Given the description of an element on the screen output the (x, y) to click on. 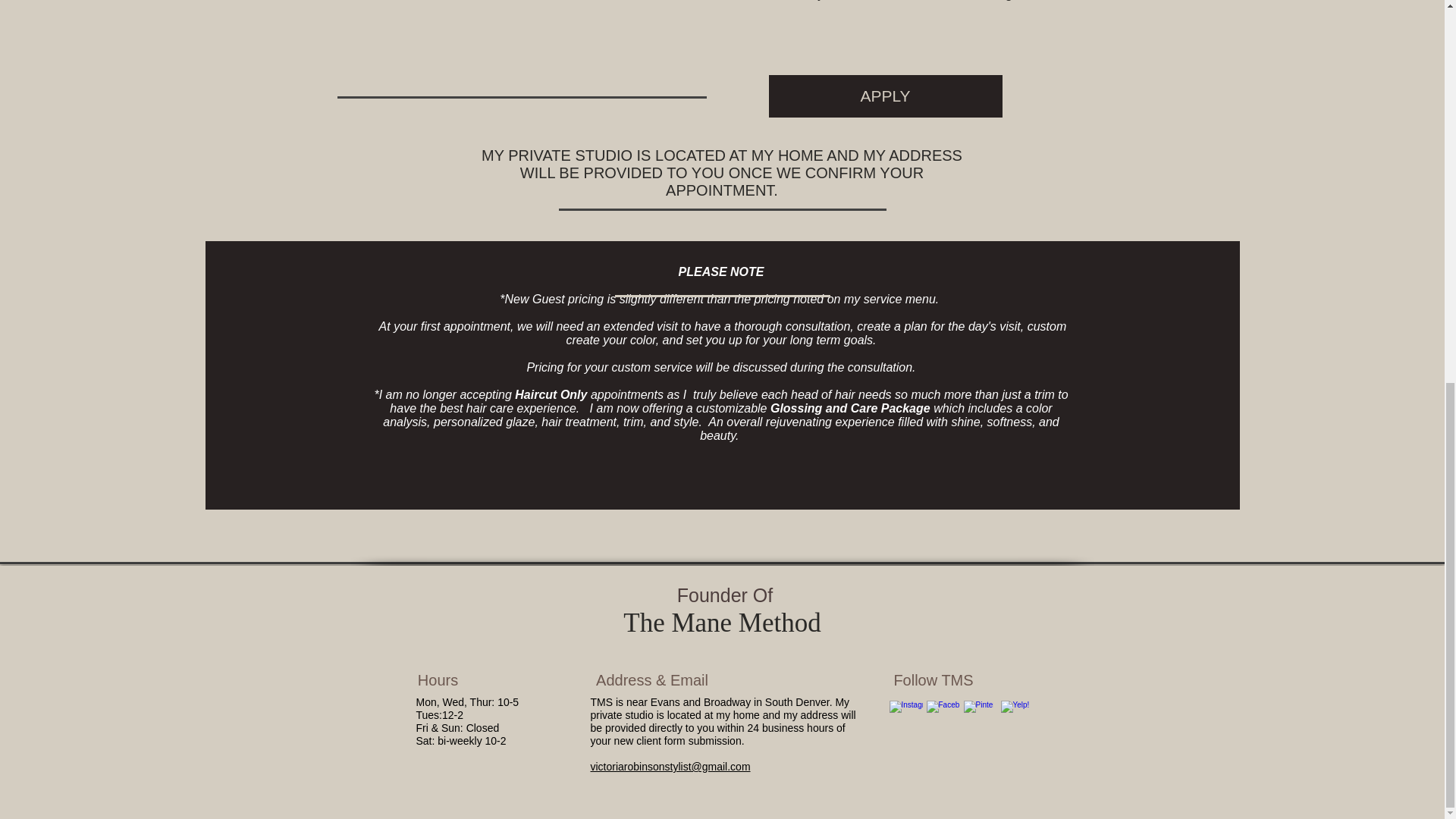
APPLY (885, 96)
